Given the description of an element on the screen output the (x, y) to click on. 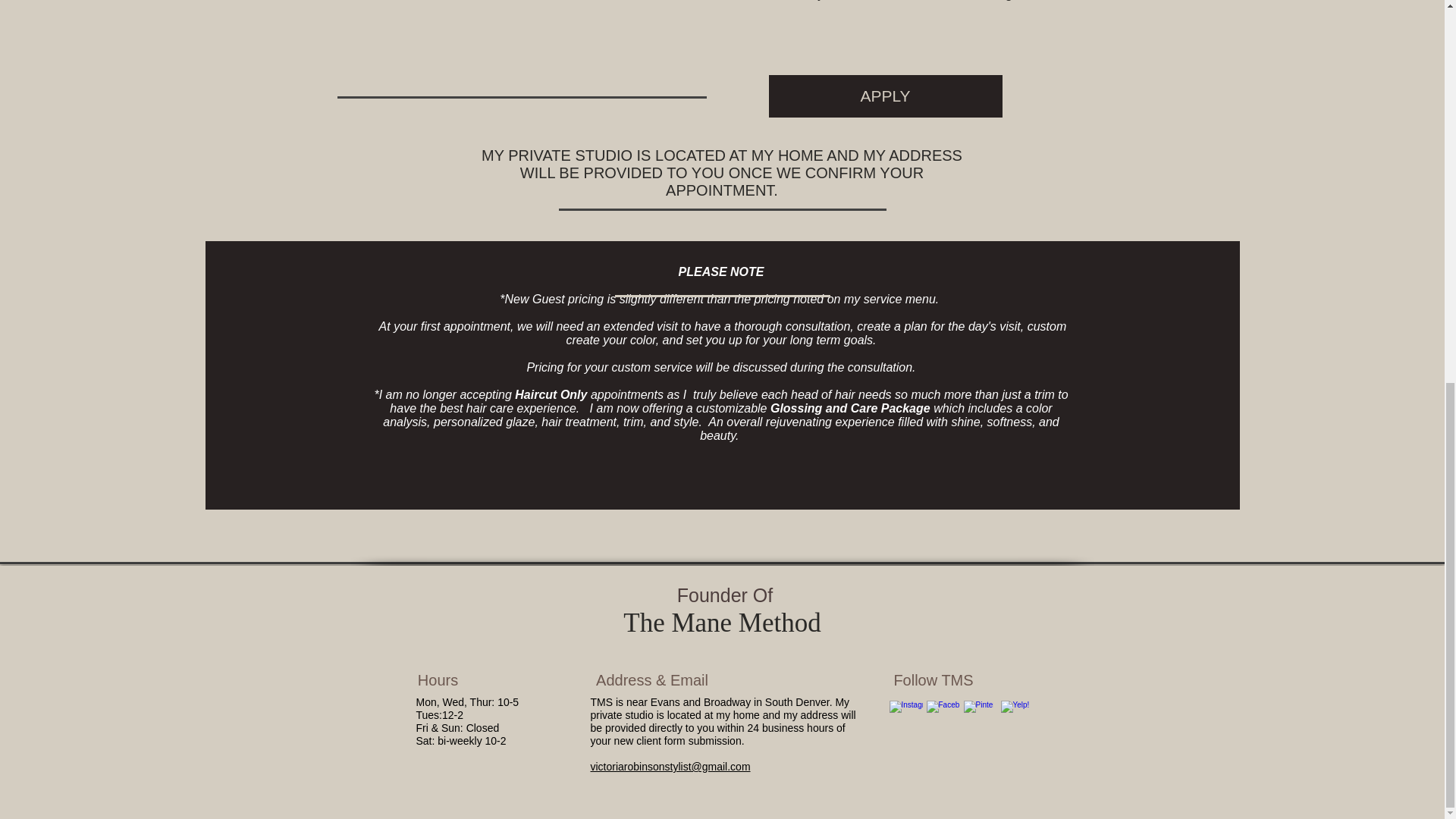
APPLY (885, 96)
